Given the description of an element on the screen output the (x, y) to click on. 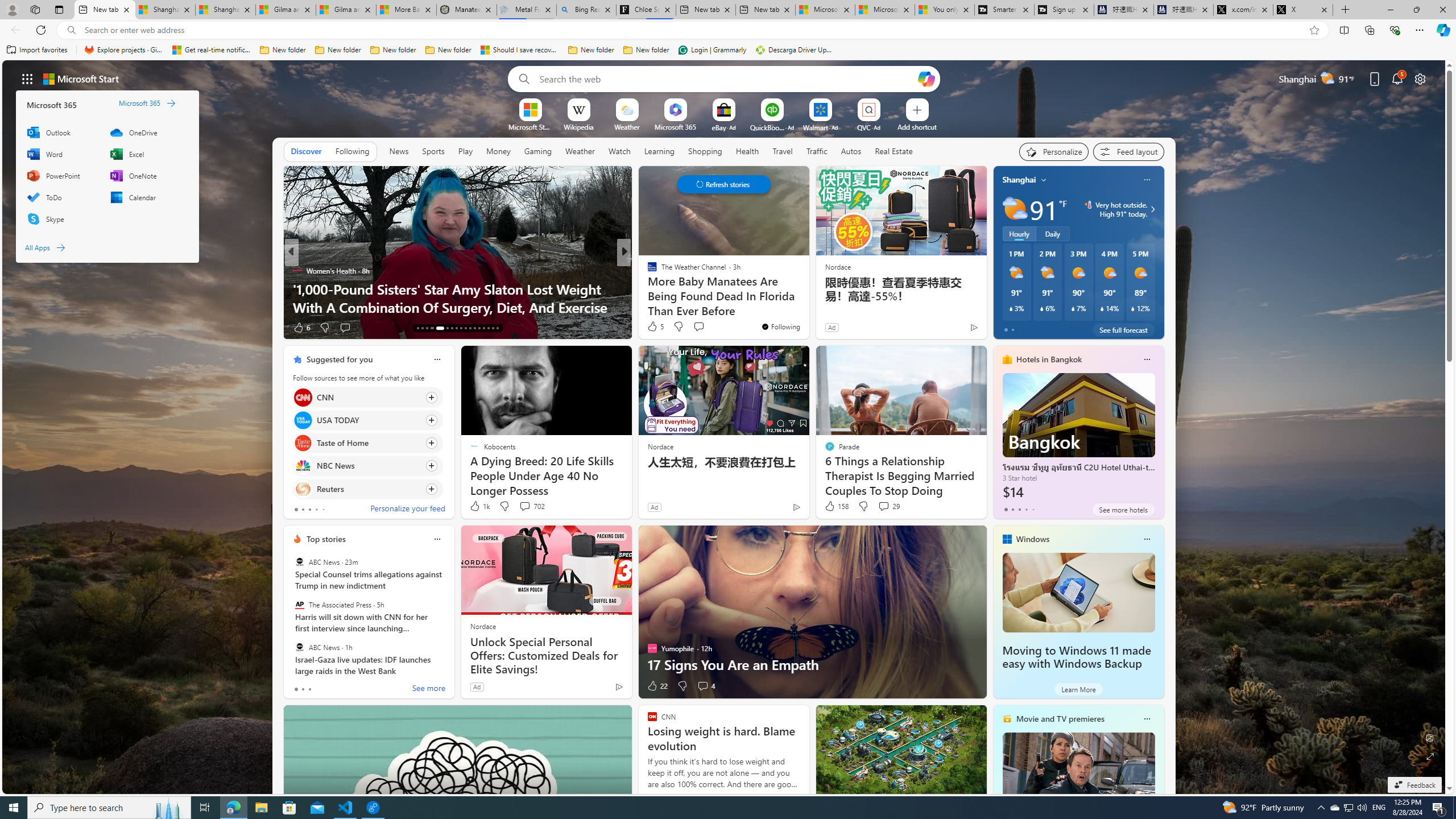
AutomationID: tab-18 (446, 328)
Page settings (1420, 78)
View comments 2 Comment (698, 327)
1k Like (478, 505)
CNBC (647, 270)
Import favorites (36, 49)
Don't Use an Ordinary Backpack (807, 307)
